Given the description of an element on the screen output the (x, y) to click on. 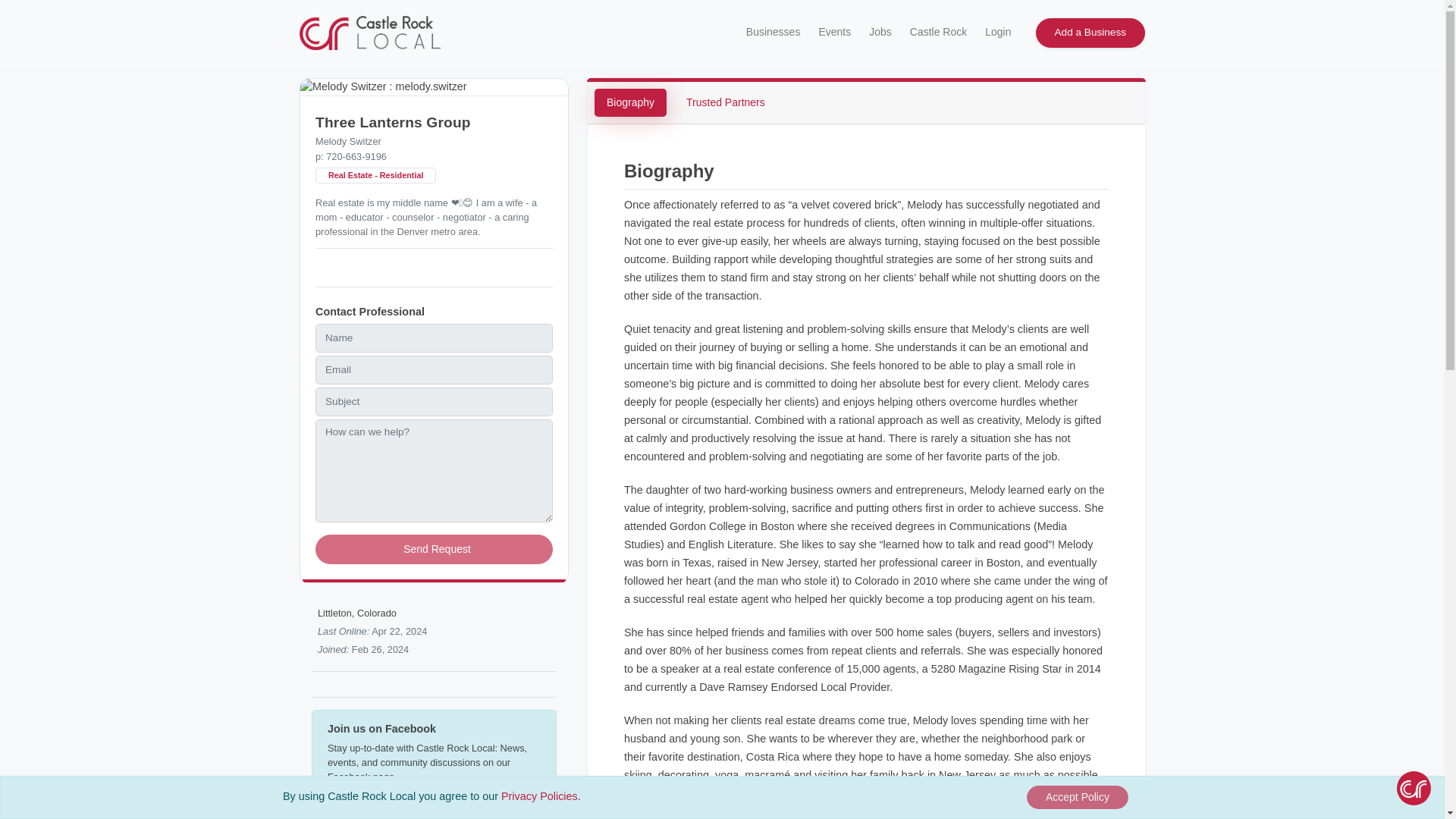
Business Login (995, 31)
Login (995, 31)
Terms, Conditions and Privacy (539, 796)
Businesses (771, 31)
Castle Rock (936, 31)
Trusted Partners (725, 102)
Real Estate - Residential Near Me (375, 175)
Create a Business or Non-Profit Profile (1089, 32)
About Castle Rock Colorado (936, 31)
Biography (630, 102)
Melody Switzer : melody.switzer (433, 87)
Castle Rock Jobs (879, 31)
Biography (630, 102)
Add a Business (1089, 32)
Real Estate - Residential (375, 175)
